Given the description of an element on the screen output the (x, y) to click on. 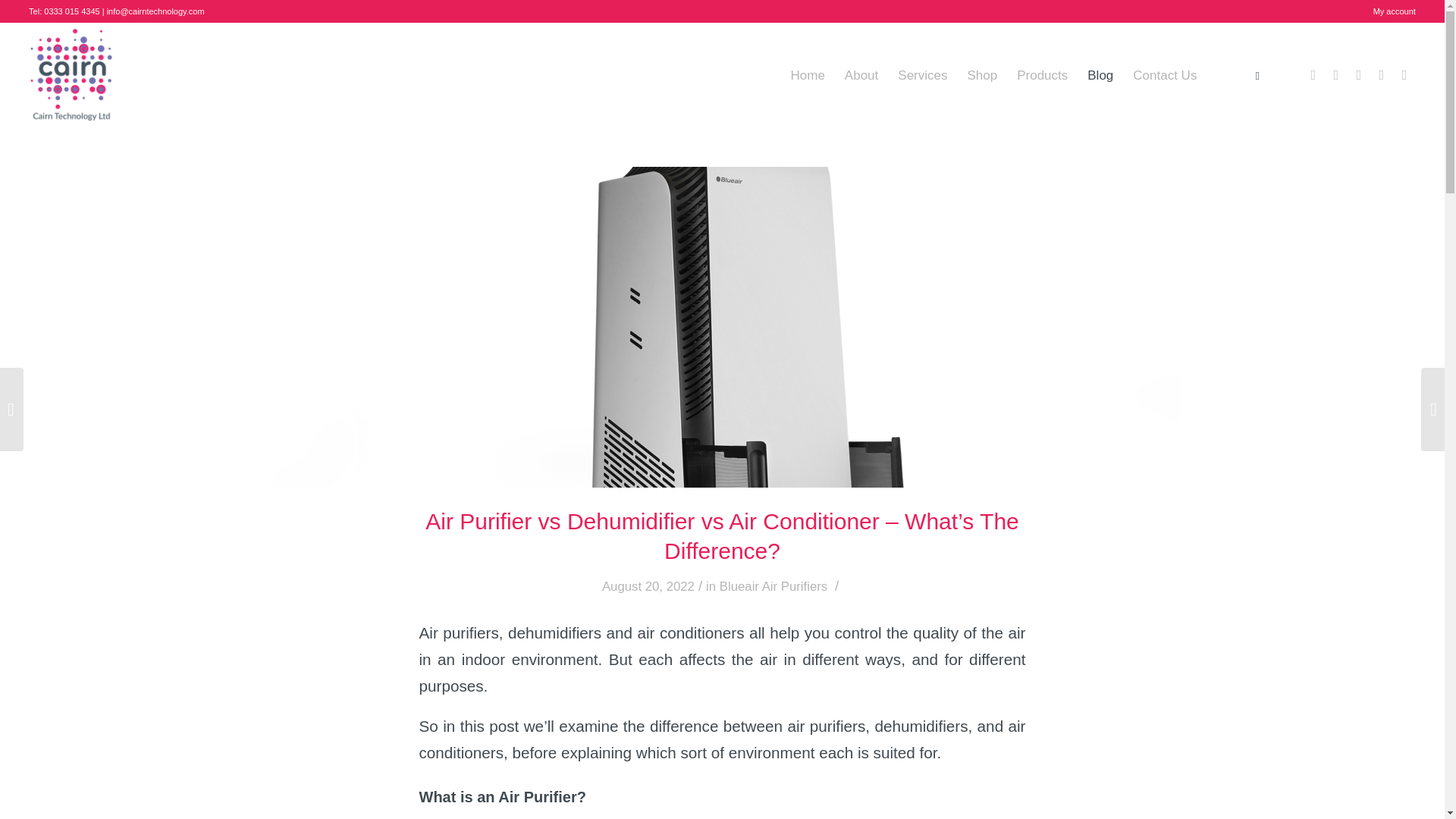
Facebook (1312, 74)
Instagram (1381, 74)
Youtube (1404, 74)
LinkedIn (1359, 74)
Twitter (1336, 74)
My account (1394, 11)
